Given the description of an element on the screen output the (x, y) to click on. 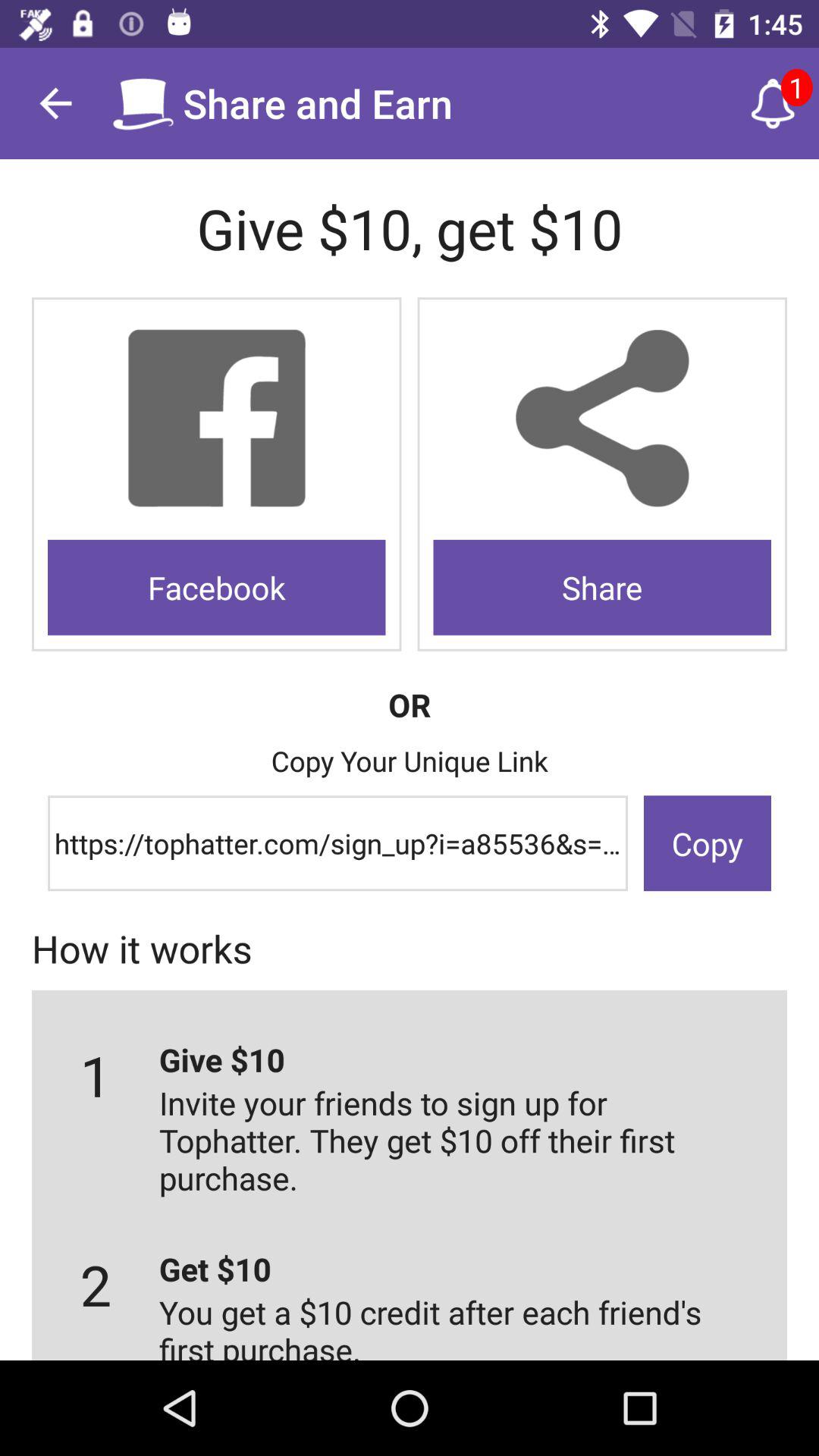
tap icon next to the share and earn icon (772, 103)
